Given the description of an element on the screen output the (x, y) to click on. 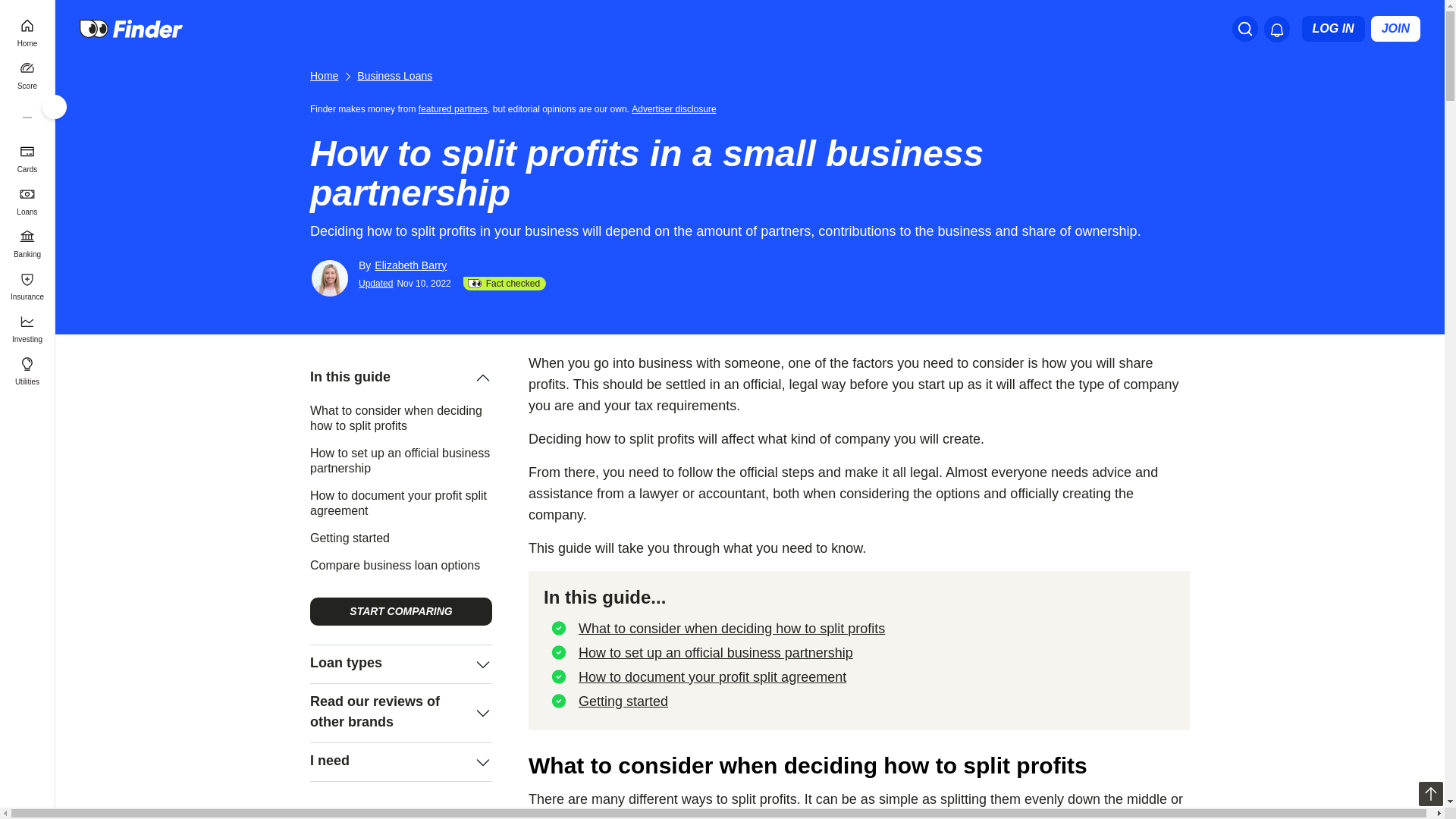
Back to Top (1430, 793)
Important information about this website (676, 108)
